Given the description of an element on the screen output the (x, y) to click on. 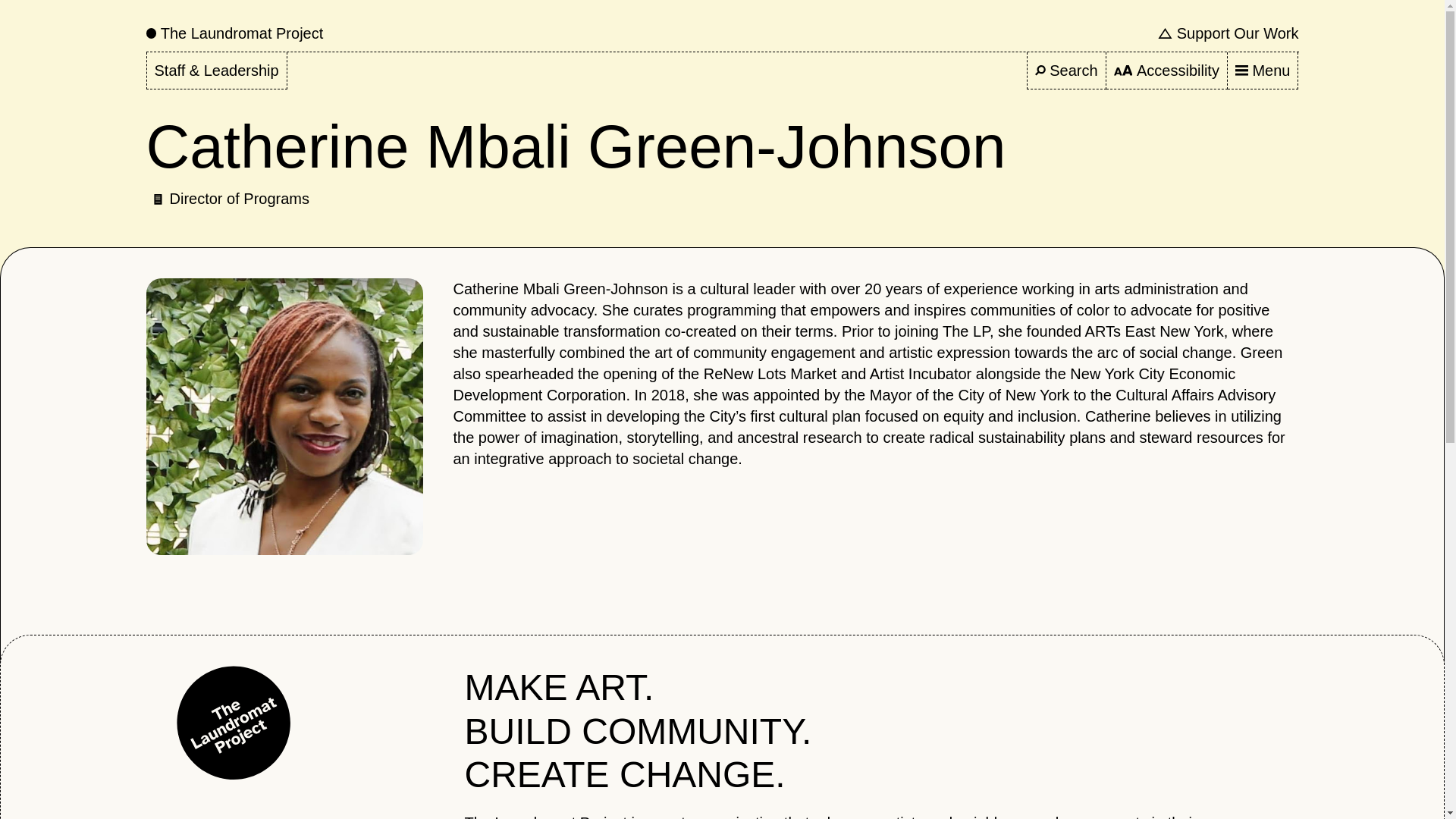
The Laundromat Project (234, 33)
 Accessibility (1166, 70)
 Menu (1262, 70)
 Search (1066, 70)
Support Our Work (1227, 33)
